Given the description of an element on the screen output the (x, y) to click on. 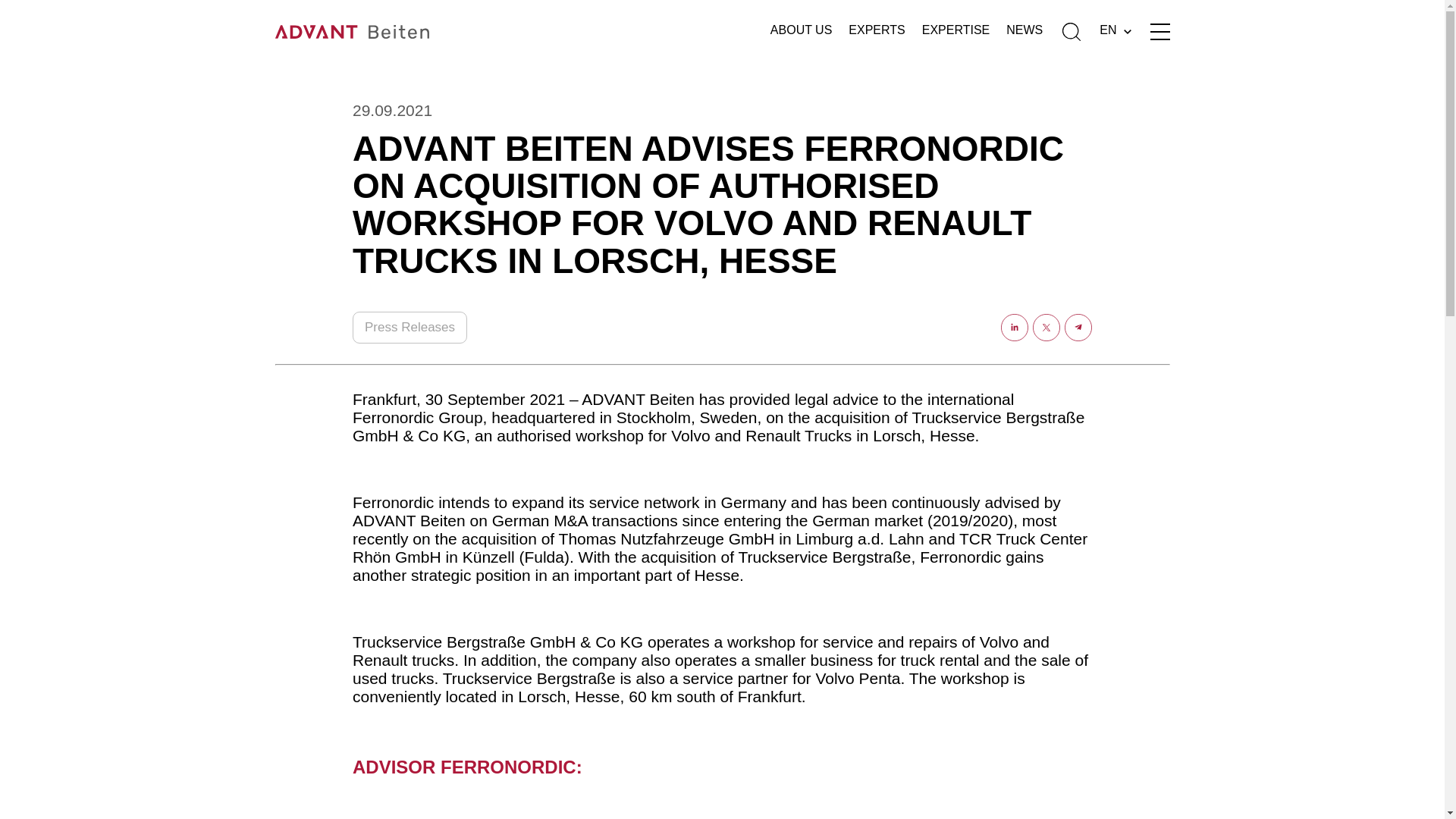
English (1115, 31)
ABOUT US (801, 31)
EXPERTISE (955, 31)
EXPERTS (876, 31)
EN (1115, 31)
NEWS (1024, 31)
